Given the description of an element on the screen output the (x, y) to click on. 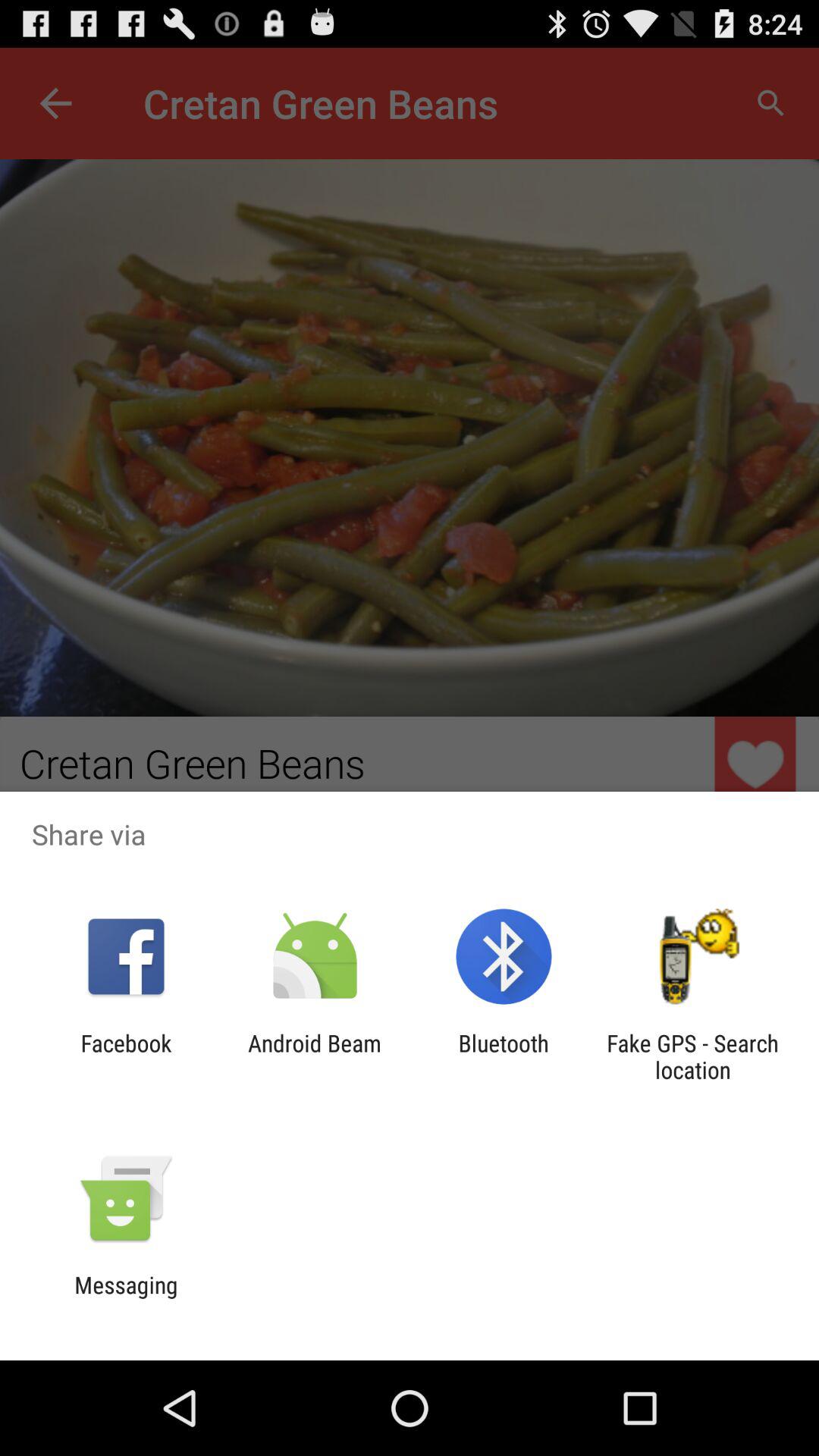
launch the icon next to android beam item (125, 1056)
